Given the description of an element on the screen output the (x, y) to click on. 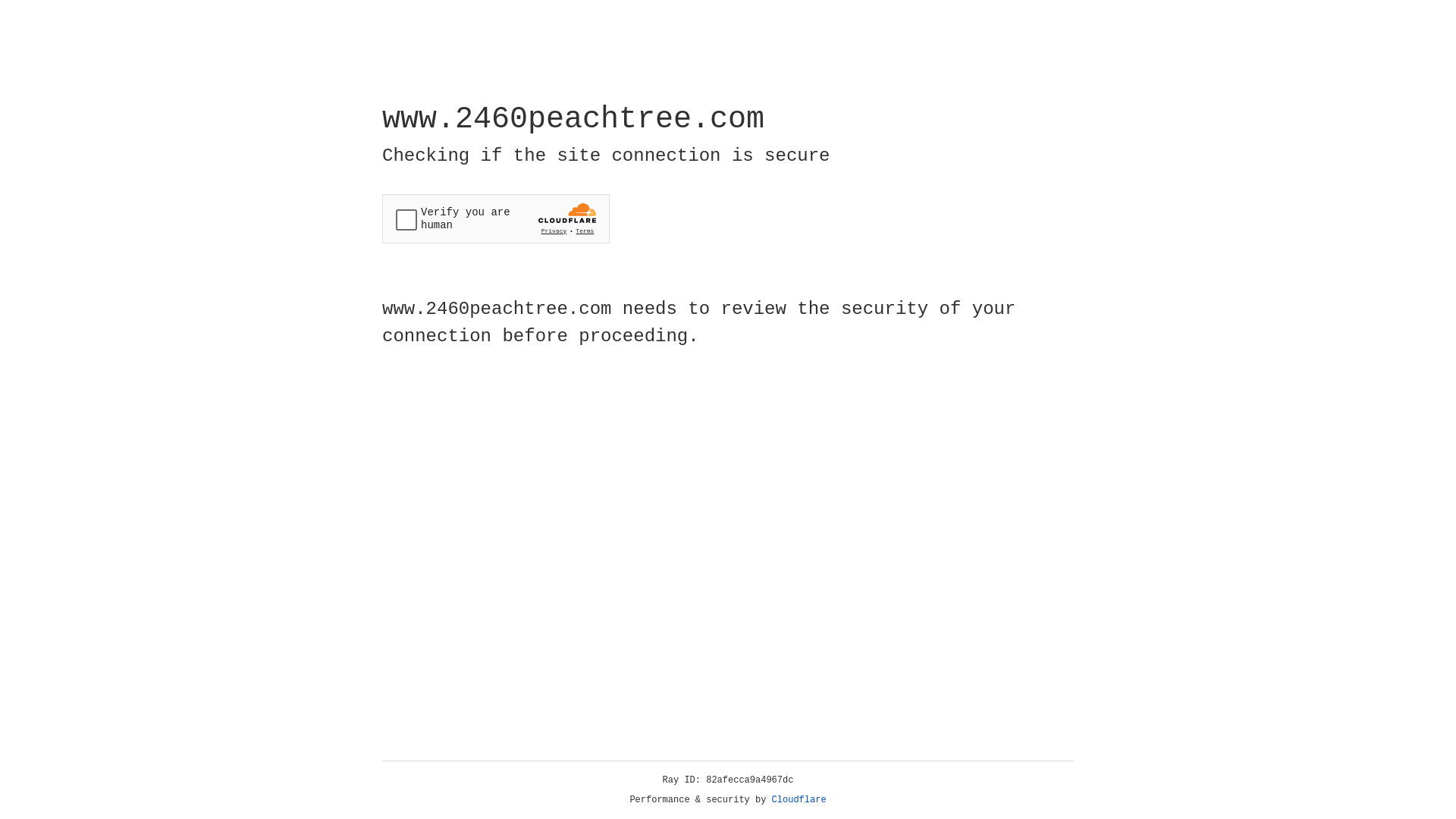
Widget containing a Cloudflare security challenge Element type: hover (495, 218)
Cloudflare Element type: text (798, 799)
